Given the description of an element on the screen output the (x, y) to click on. 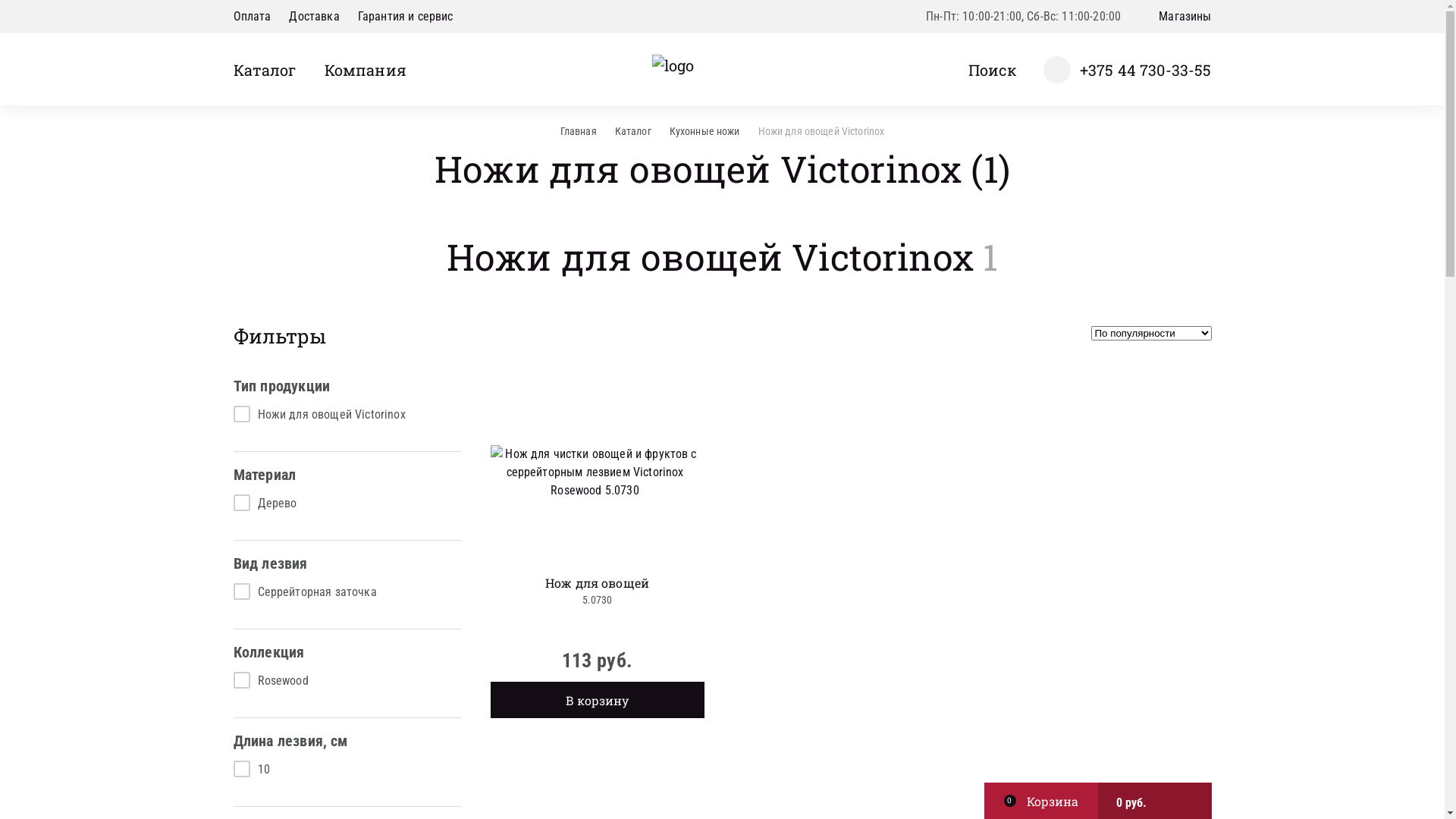
Y Element type: text (722, 4)
+375 44 730-33-55 Element type: text (1127, 69)
